Given the description of an element on the screen output the (x, y) to click on. 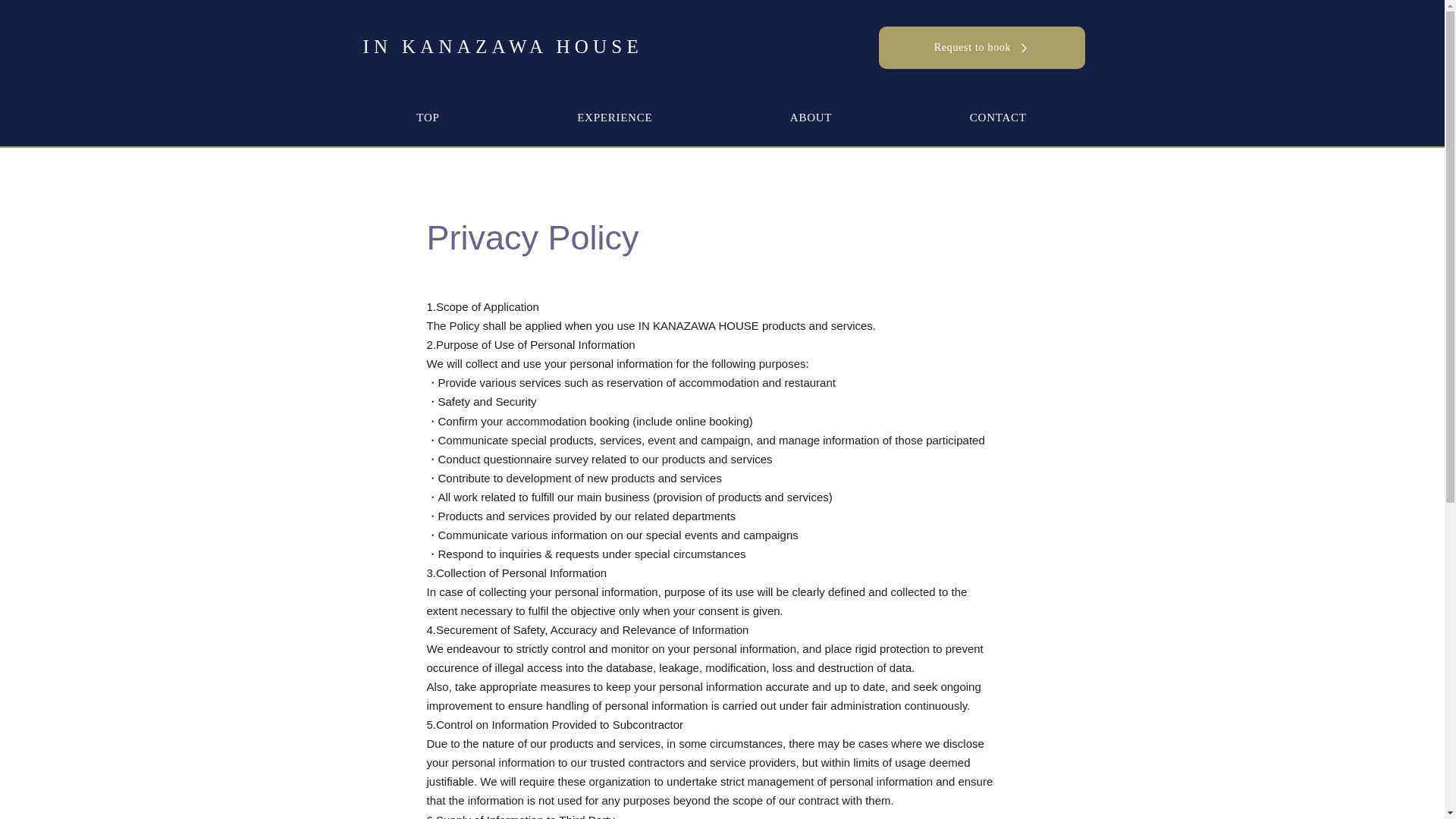
Privacy Policy (532, 237)
TOP (427, 117)
CONTACT (998, 117)
IN KANAZAWA HOUSE (502, 46)
Request to book (980, 47)
